Given the description of an element on the screen output the (x, y) to click on. 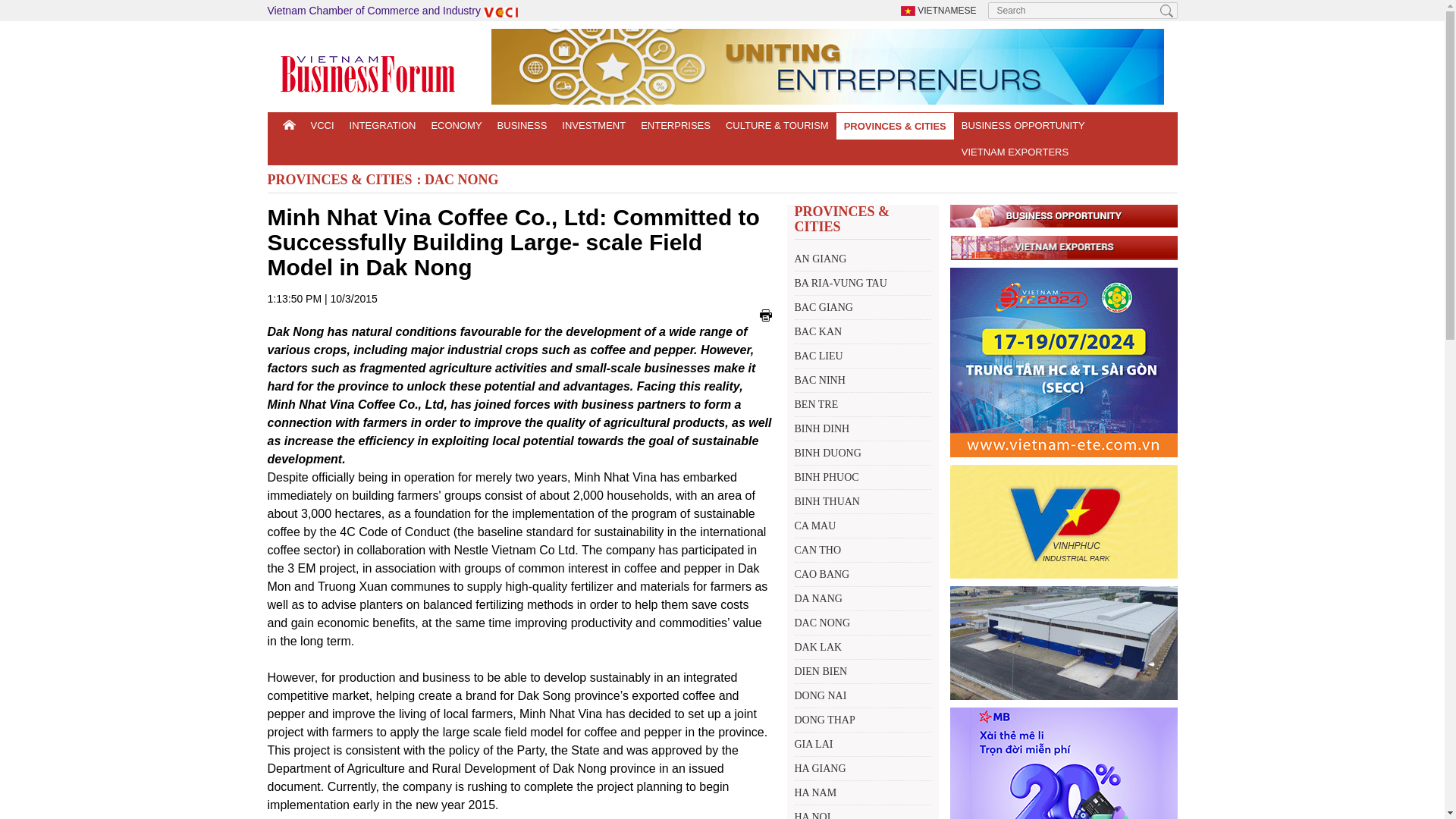
BUSINESS OPPORTUNITY (1023, 125)
Vietnam Chamber of Commerce and Industry (393, 10)
ENTERPRISES (675, 125)
INTEGRATION (382, 125)
ECONOMY (456, 125)
INVESTMENT (593, 125)
VCCI (322, 125)
BUSINESS (521, 125)
VIETNAM EXPORTERS (1010, 151)
VIETNAMESE (938, 9)
